Given the description of an element on the screen output the (x, y) to click on. 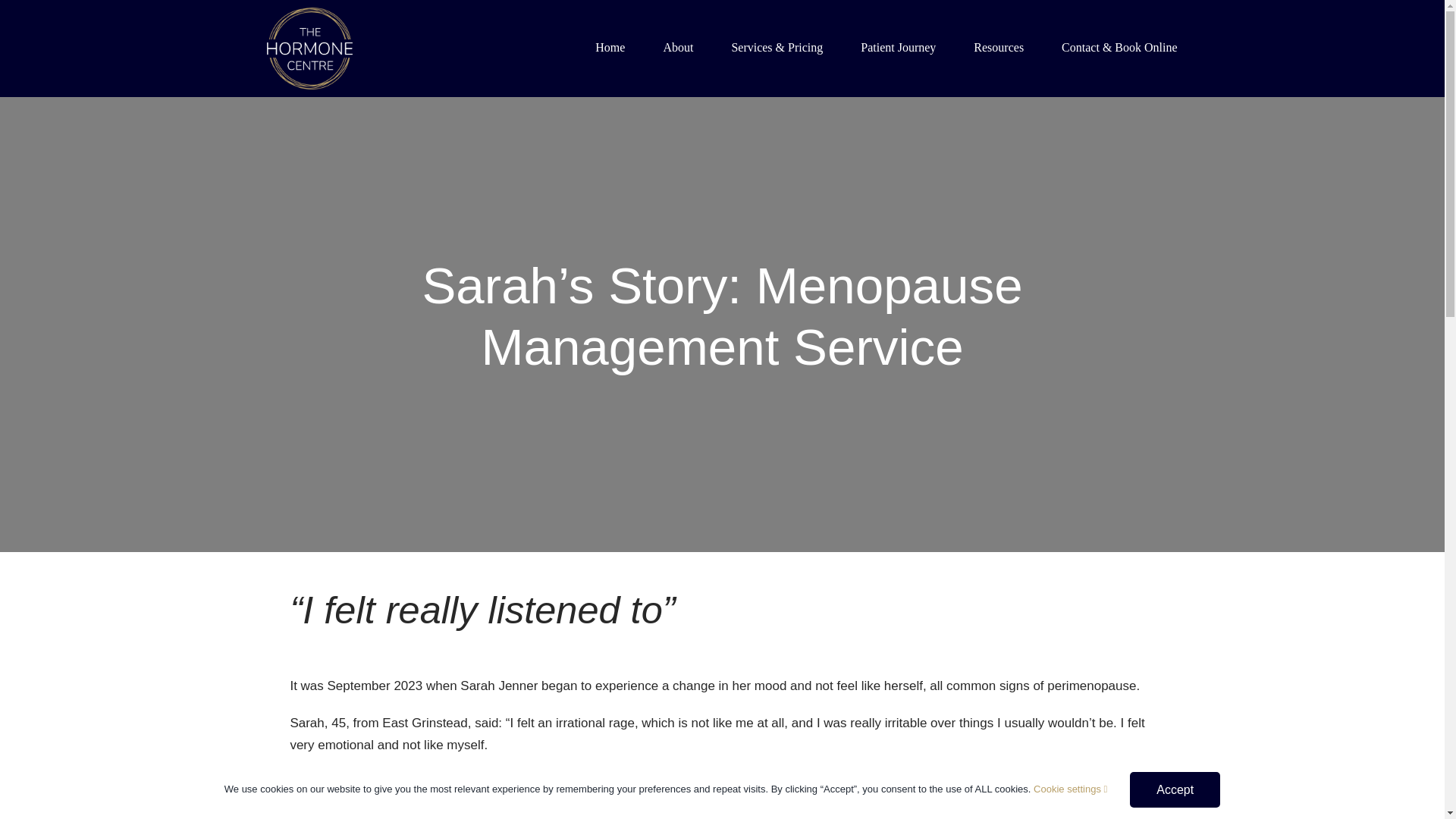
Accept (1174, 789)
Patient Journey (898, 48)
Resources (998, 48)
Cookie settings (1069, 788)
